Given the description of an element on the screen output the (x, y) to click on. 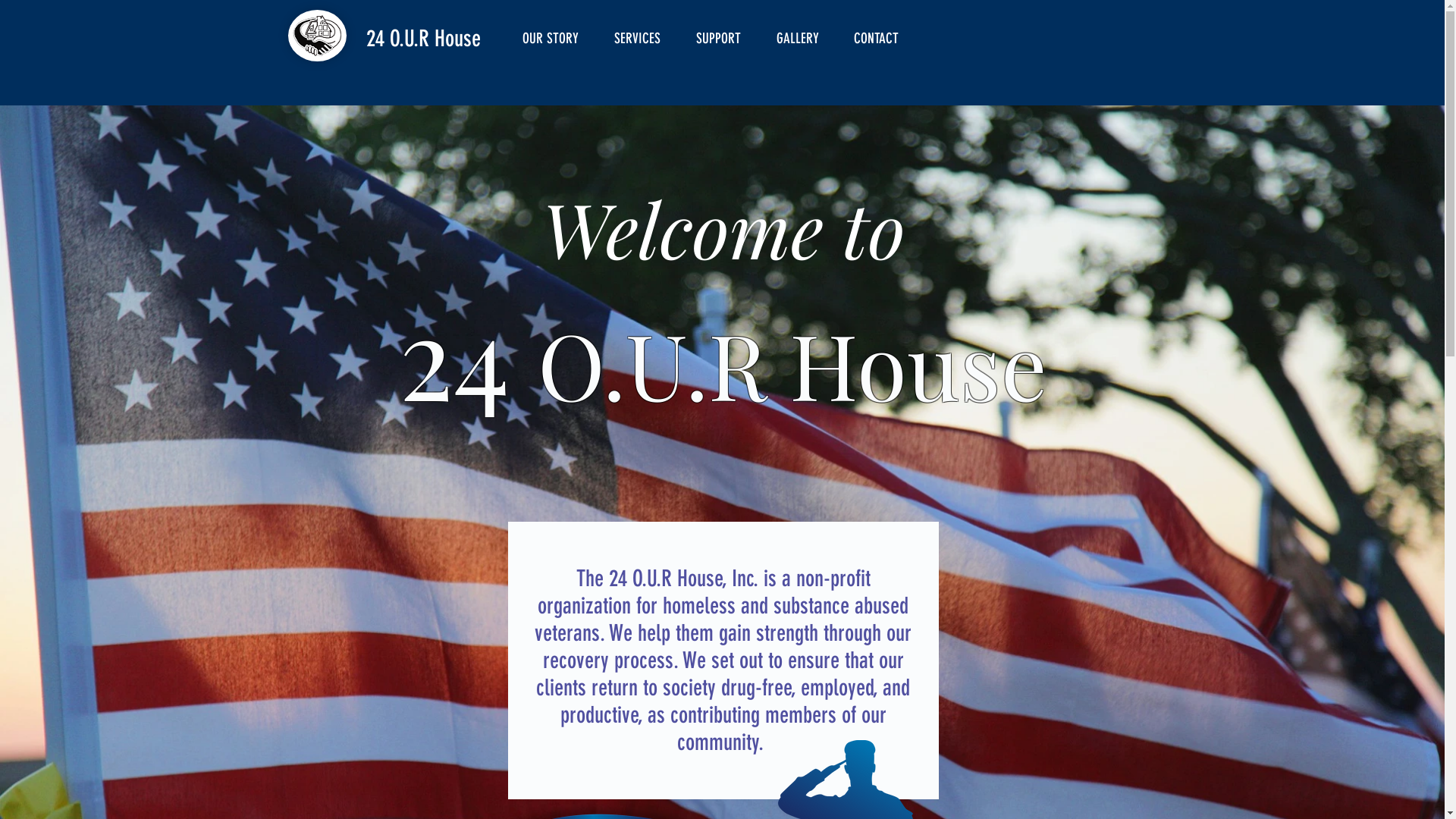
SERVICES Element type: text (643, 38)
OUR STORY Element type: text (556, 38)
GALLERY Element type: text (802, 38)
LOGO 3.png Element type: hover (317, 35)
24 O.U.R House Element type: text (422, 38)
SUPPORT Element type: text (724, 38)
CONTACT Element type: text (881, 38)
